Given the description of an element on the screen output the (x, y) to click on. 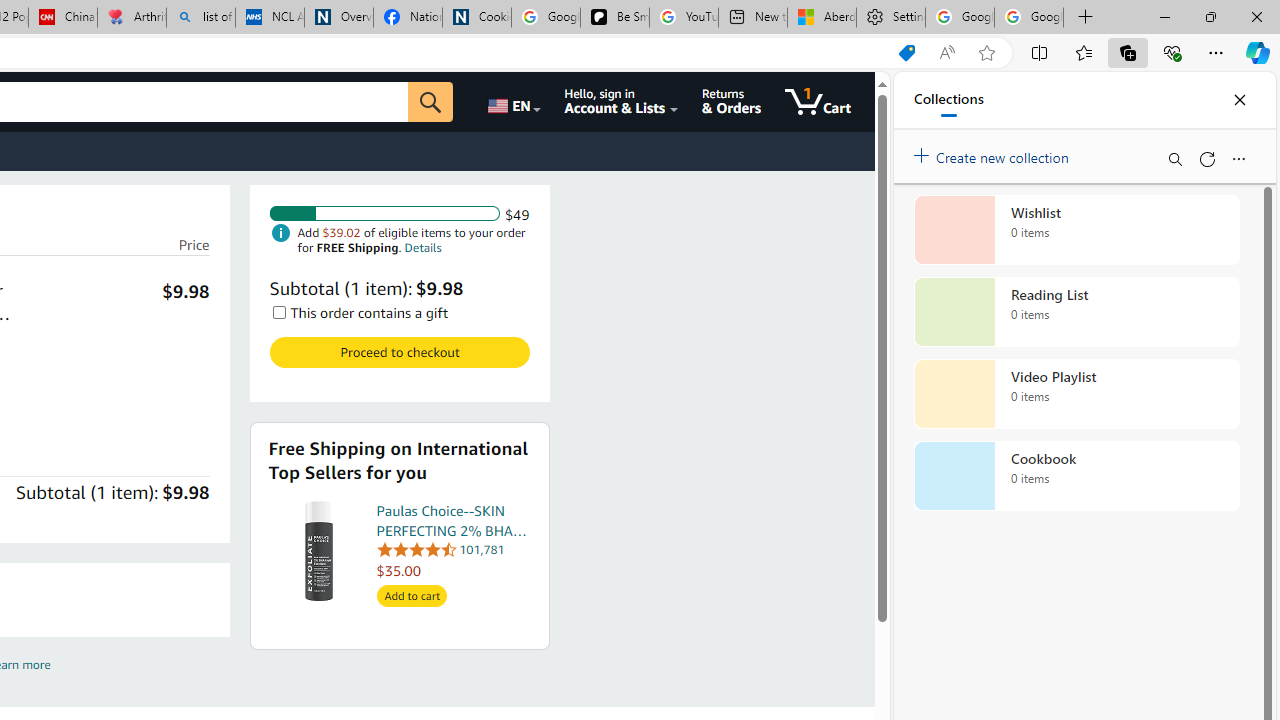
Aberdeen, Hong Kong SAR hourly forecast | Microsoft Weather (822, 17)
list of asthma inhalers uk - Search (200, 17)
Wishlist collection, 0 items (1076, 229)
Proceed to checkout Check out Amazon Cart  (399, 352)
1 item in cart (817, 101)
NCL Adult Asthma Inhaler Choice Guideline (269, 17)
Video Playlist collection, 0 items (1076, 394)
